Given the description of an element on the screen output the (x, y) to click on. 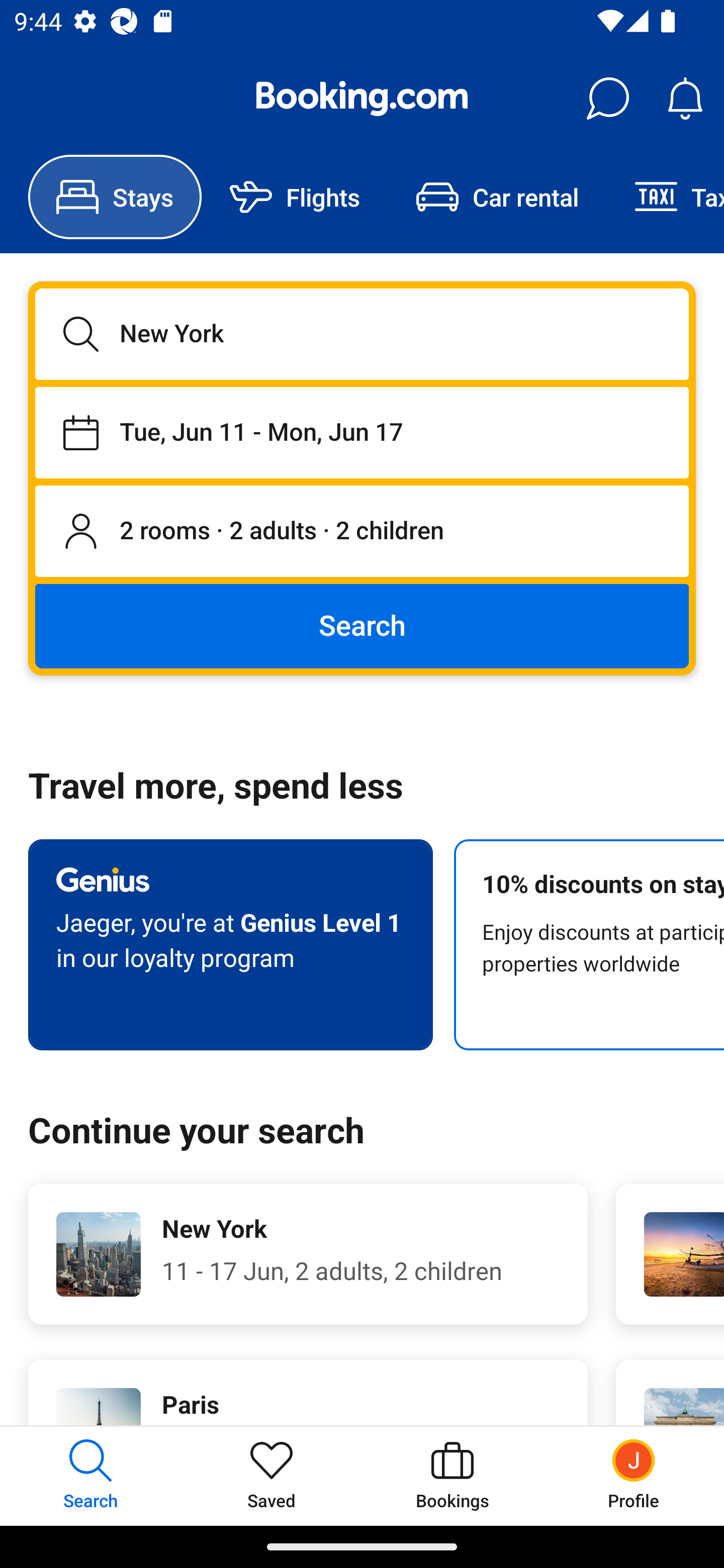
Messages (607, 98)
Notifications (685, 98)
Stays (114, 197)
Flights (294, 197)
Car rental (497, 197)
Taxi (665, 197)
New York (361, 333)
Staying from Tue, Jun 11 until Mon, Jun 17 (361, 432)
2 rooms, 2 adults, 2 children (361, 531)
Search (361, 625)
New York 11 - 17 Jun, 2 adults, 2 children (307, 1253)
Saved (271, 1475)
Bookings (452, 1475)
Profile (633, 1475)
